Given the description of an element on the screen output the (x, y) to click on. 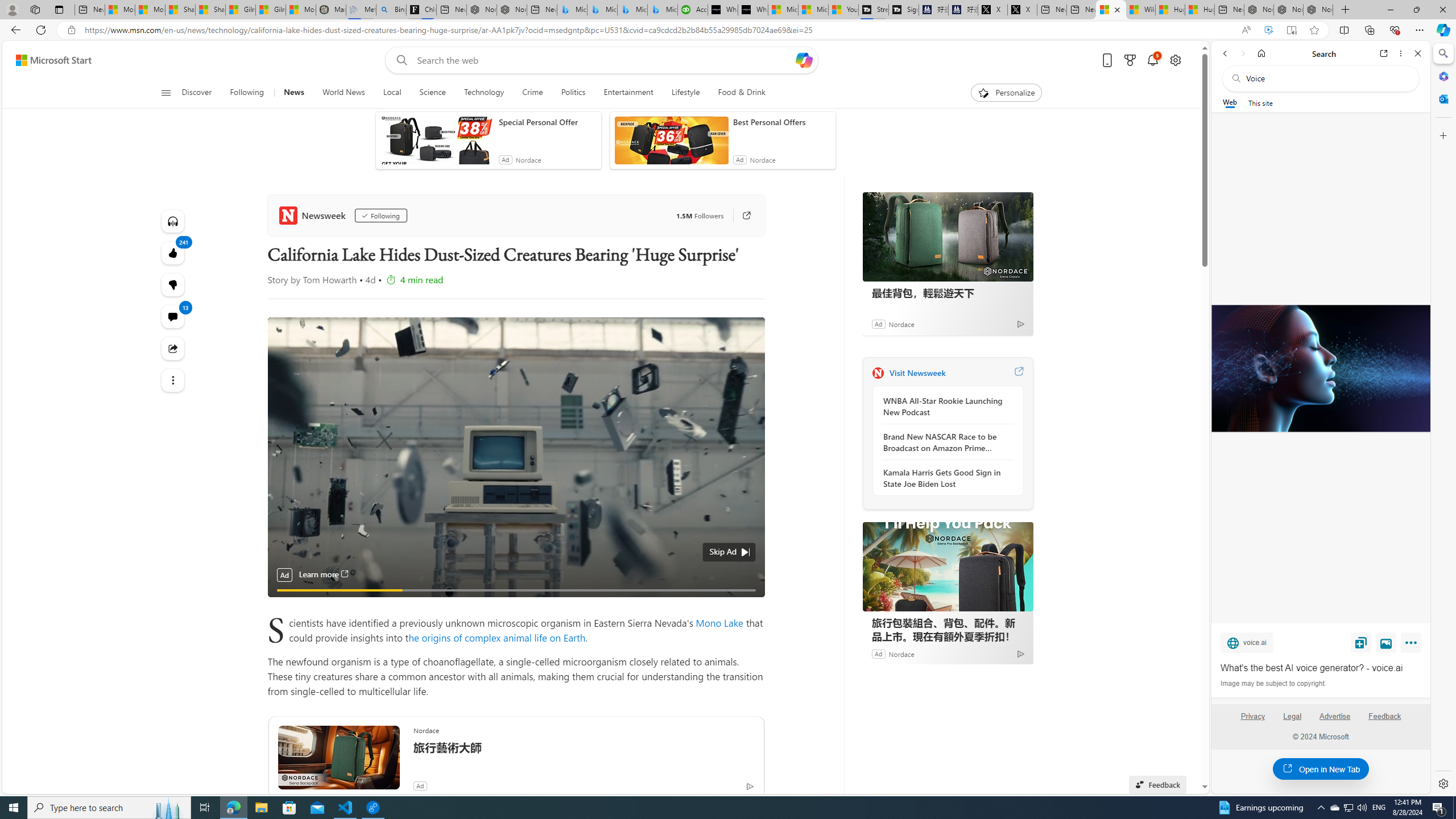
Local (391, 92)
Forward (1242, 53)
Share this story (172, 348)
Settings (1442, 783)
Legal (1292, 720)
Science (432, 92)
Technology (483, 92)
Search the web (1326, 78)
Brand New NASCAR Race to be Broadcast on Amazon Prime Video (944, 441)
Go to publisher's site (740, 215)
Enter your search term (603, 59)
